Given the description of an element on the screen output the (x, y) to click on. 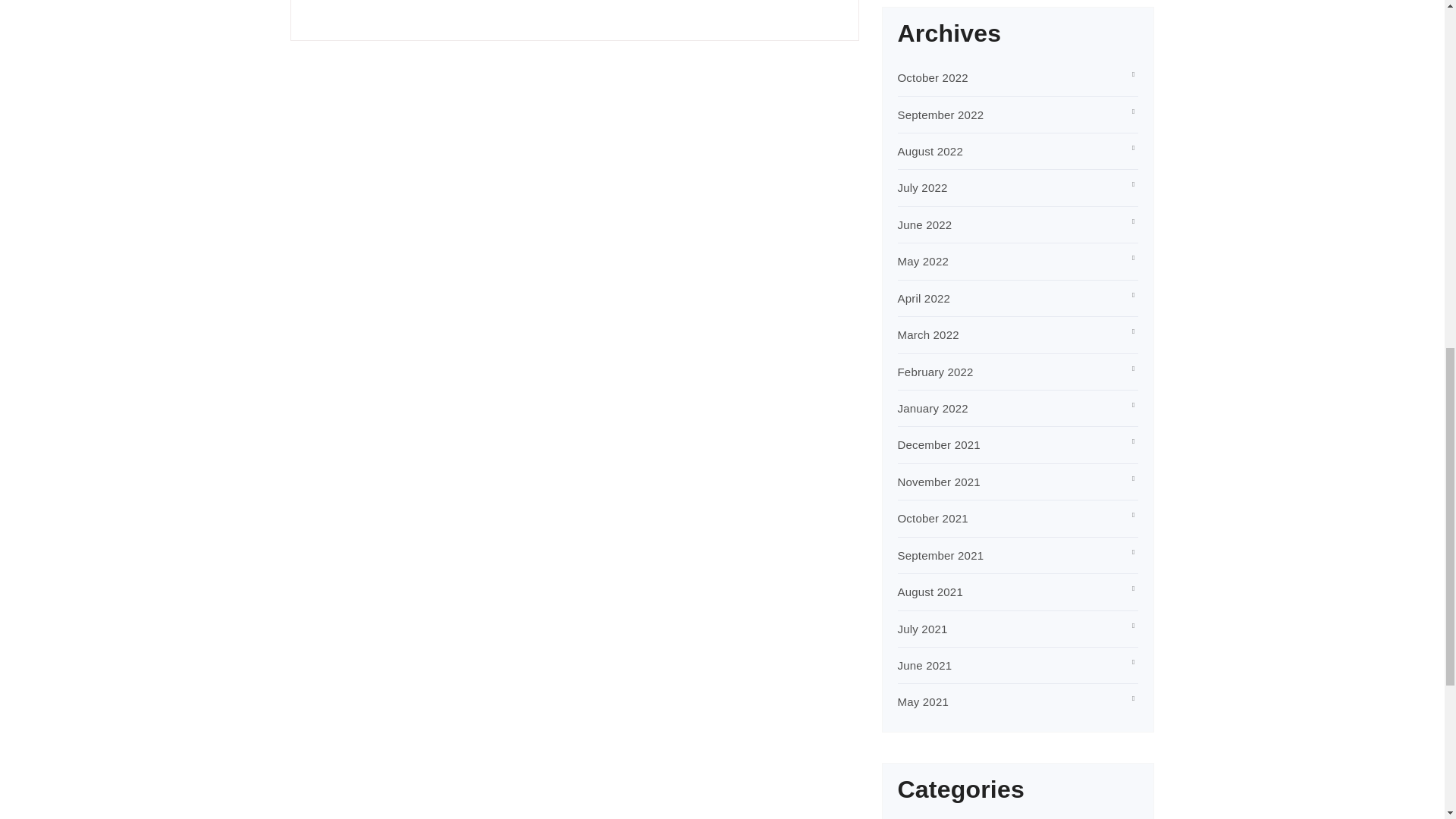
October 2022 (933, 77)
August 2022 (930, 151)
September 2022 (941, 114)
